Given the description of an element on the screen output the (x, y) to click on. 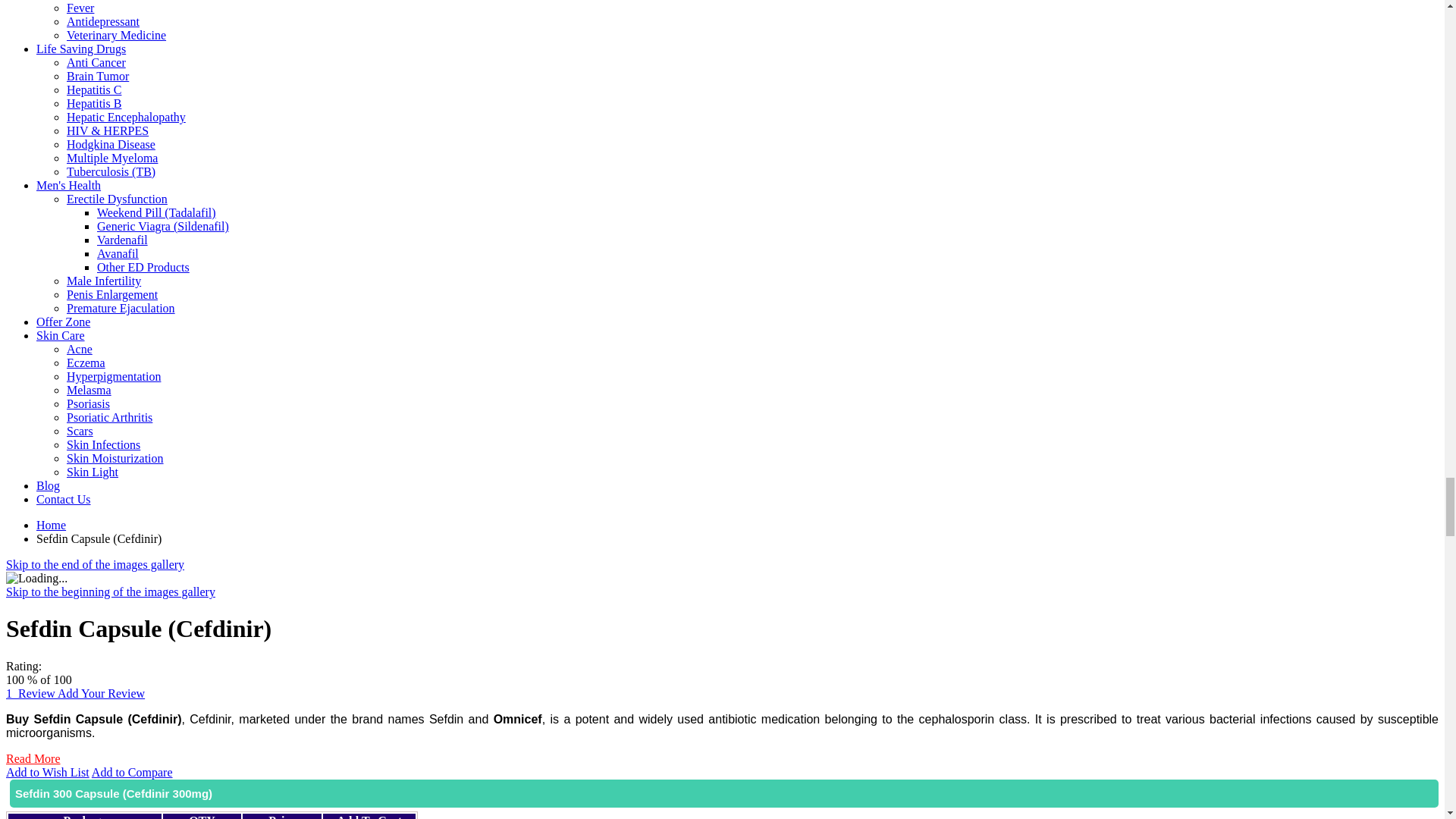
Go to Home Page (50, 524)
